Given the description of an element on the screen output the (x, y) to click on. 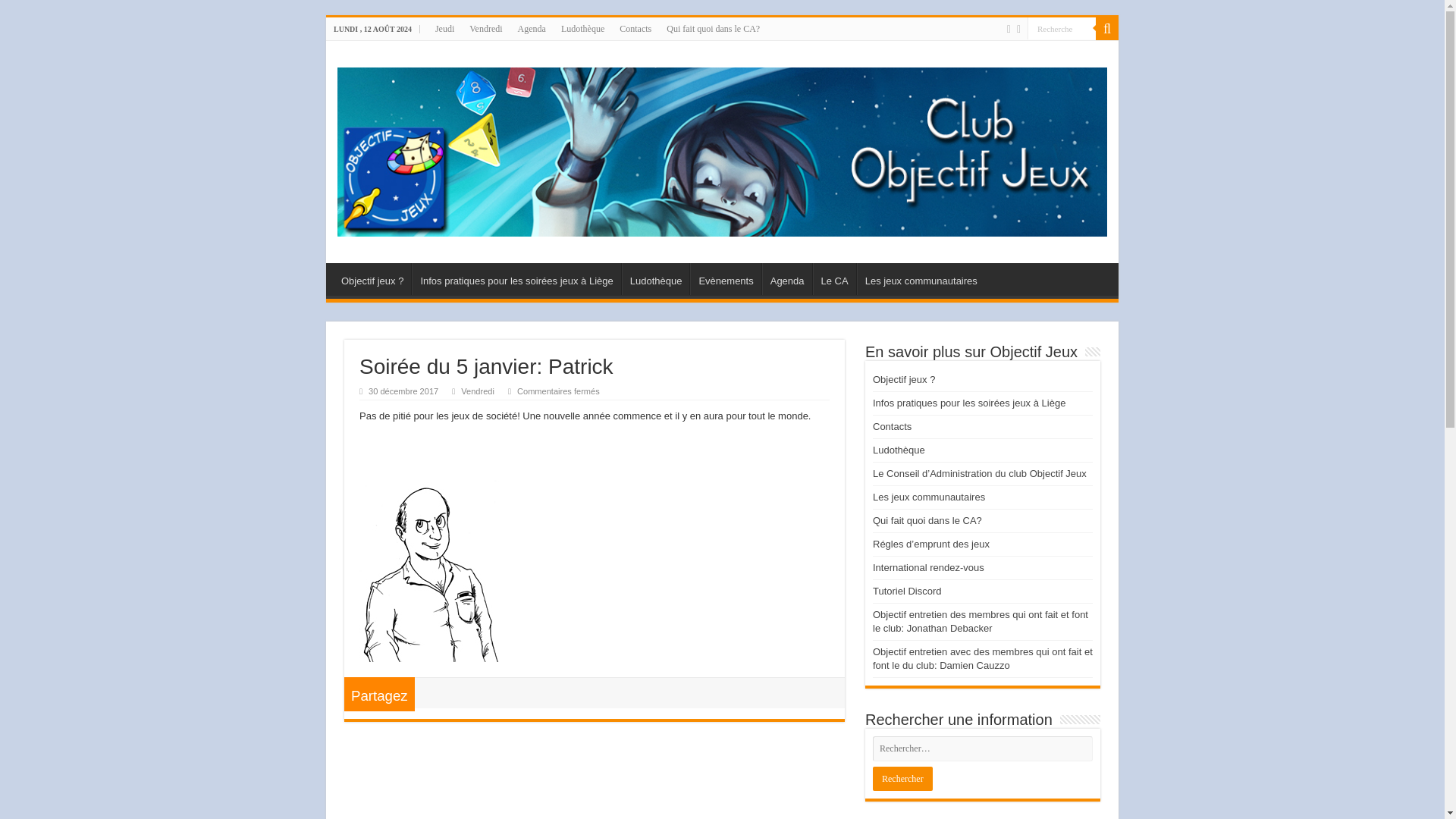
Objectif jeux ? (371, 278)
Vendredi (485, 28)
Contacts (891, 426)
Jeudi (444, 28)
Objectif Jeux (721, 148)
Qui fait quoi dans le CA? (713, 28)
Rechercher (902, 778)
Rechercher (902, 778)
Qui fait quoi dans le CA? (926, 520)
